Given the description of an element on the screen output the (x, y) to click on. 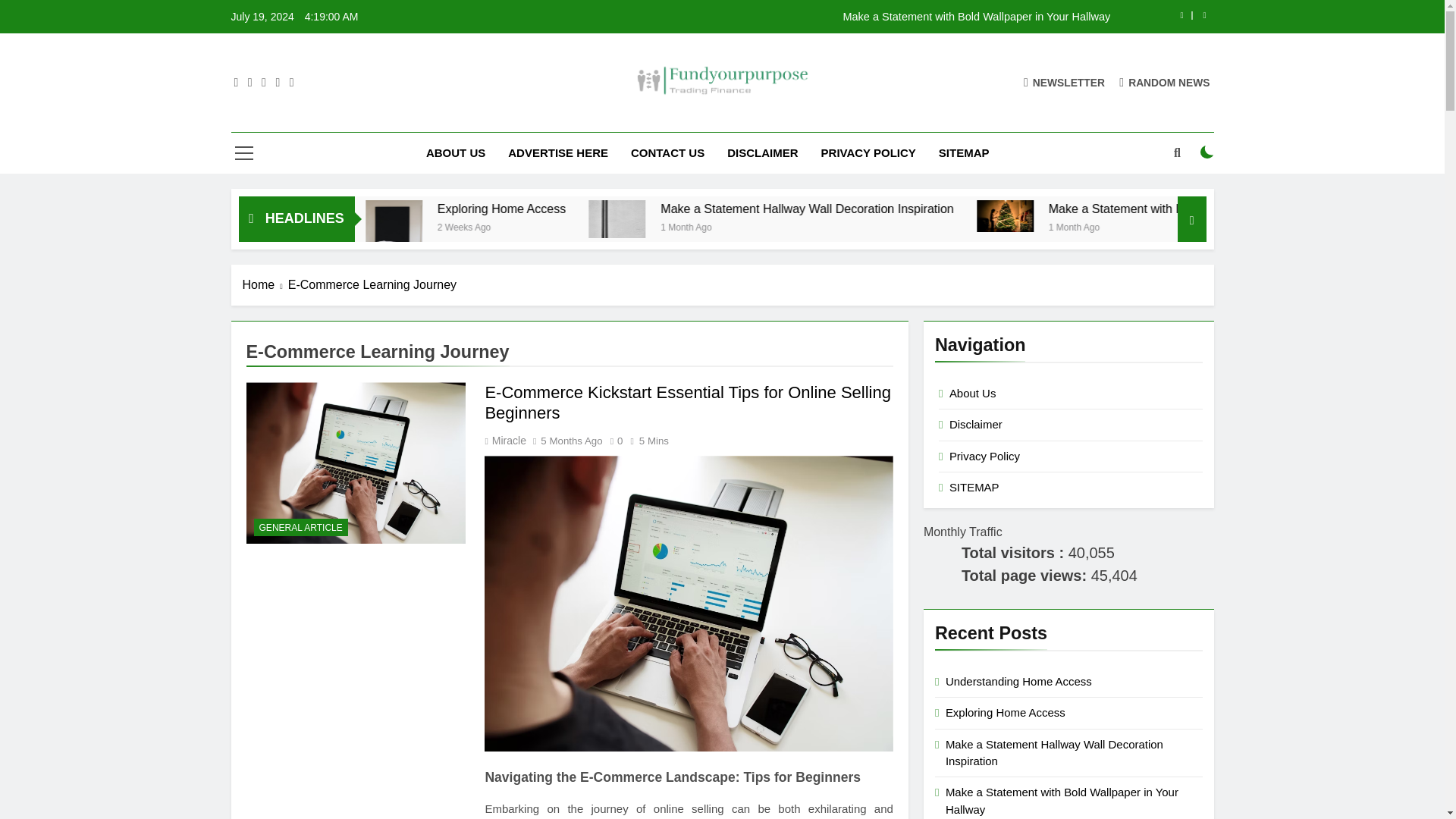
Make a Statement Hallway Wall Decoration Inspiration (955, 208)
on (1206, 151)
Make a Statement with Bold Wallpaper in Your Hallway (817, 16)
2 Weeks Ago (618, 226)
Make a Statement Hallway Wall Decoration Inspiration (741, 218)
1 Month Ago (831, 226)
2 Weeks Ago (374, 226)
CONTACT US (668, 152)
Understanding Home Access (427, 208)
RANDOM NEWS (1164, 82)
SITEMAP (964, 152)
Fundyourpurpose (612, 118)
Understanding Home Access (398, 208)
NEWSLETTER (1064, 82)
Make a Statement with Bold Wallpaper in Your Hallway (817, 16)
